Given the description of an element on the screen output the (x, y) to click on. 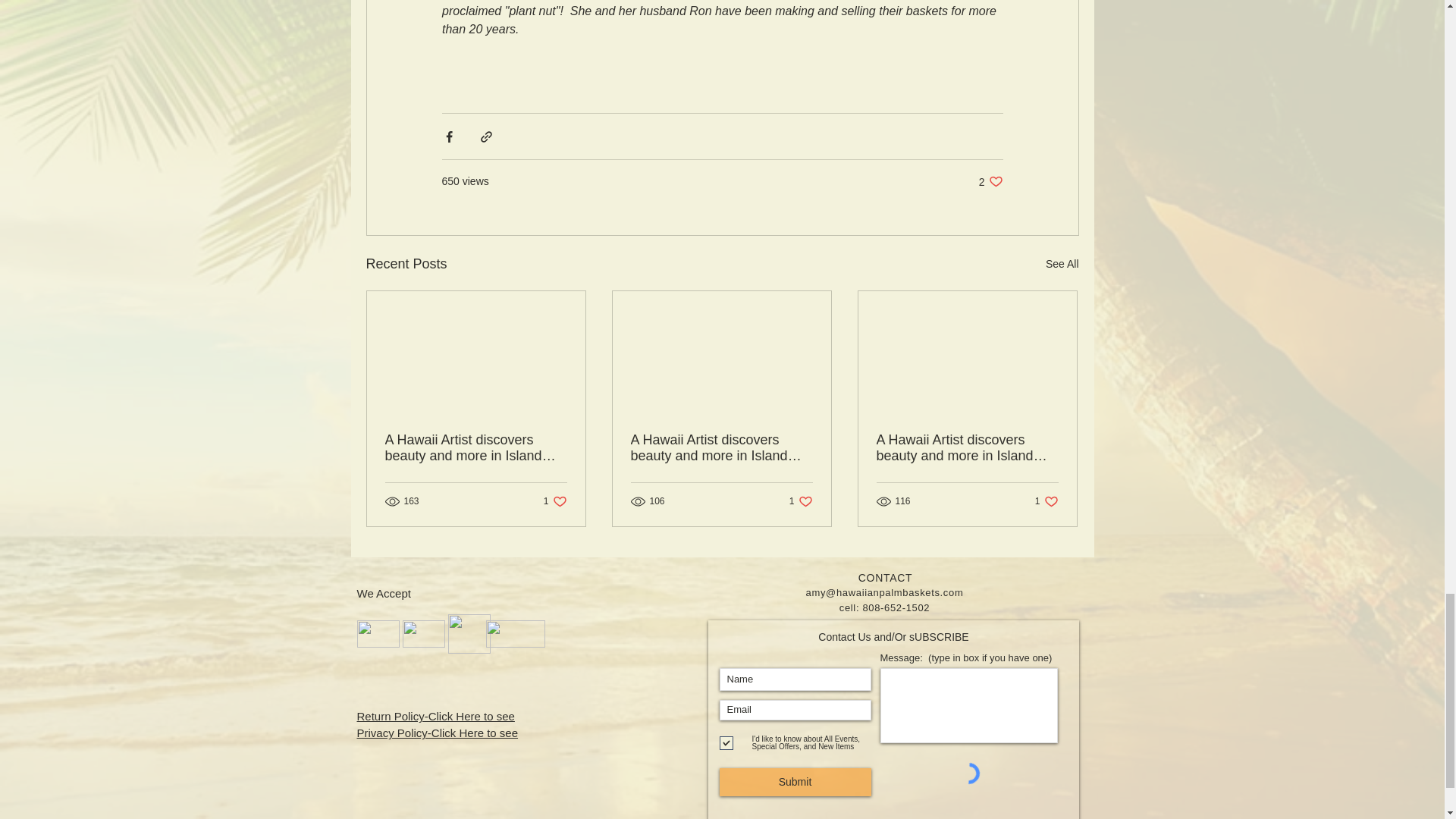
Privacy Policy-Click Here to see (437, 732)
See All (1046, 501)
Submit (990, 181)
Return Policy-Click Here to see (1061, 264)
